Given the description of an element on the screen output the (x, y) to click on. 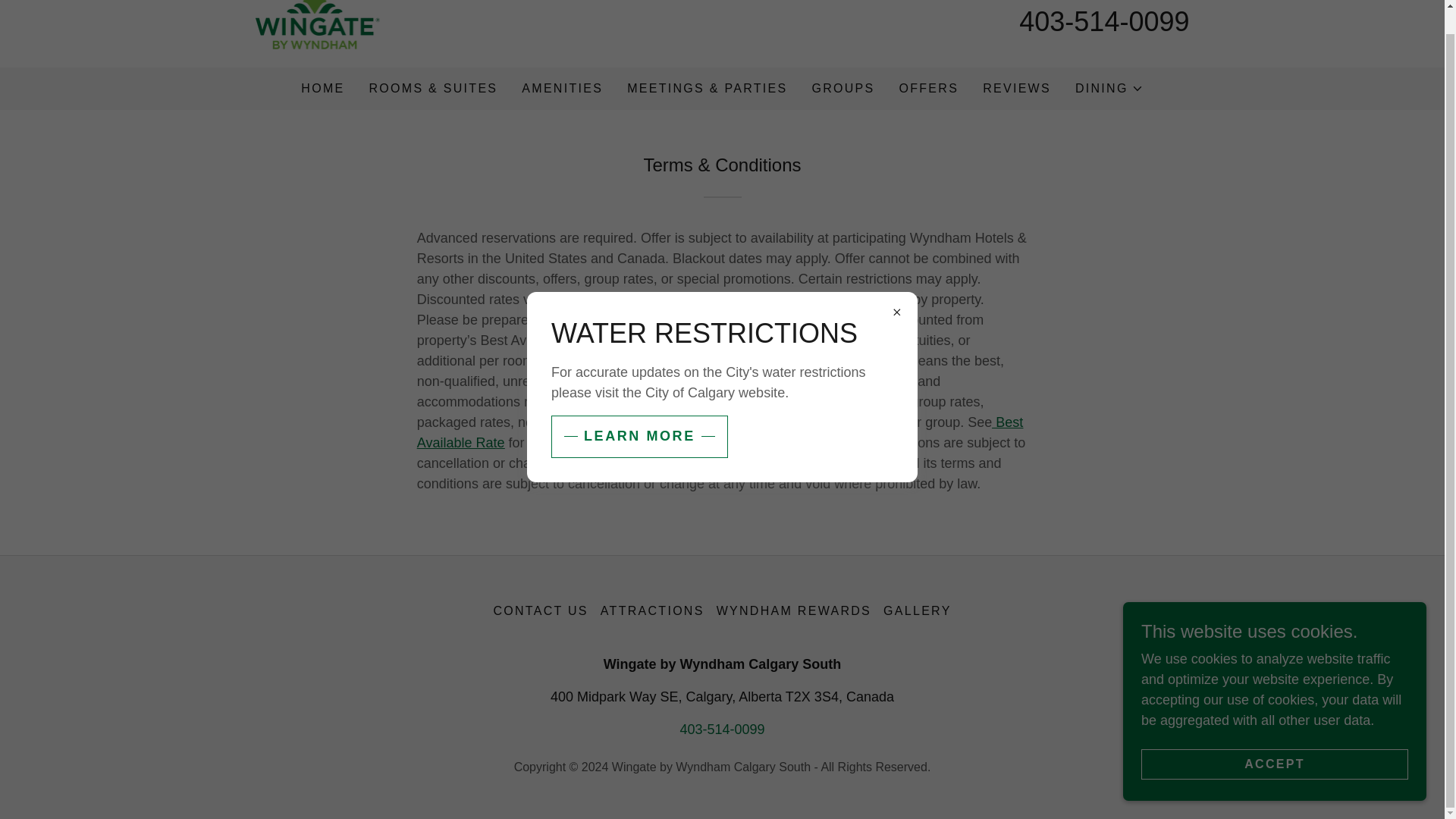
OFFERS (929, 88)
403-514-0099 (1104, 20)
CONTACT US (540, 611)
WYNDHAM REWARDS (793, 611)
DINING (1108, 88)
Wingate by Wyndham Calgary South (317, 20)
ATTRACTIONS (652, 611)
AMENITIES (561, 88)
REVIEWS (1016, 88)
GROUPS (842, 88)
